Given the description of an element on the screen output the (x, y) to click on. 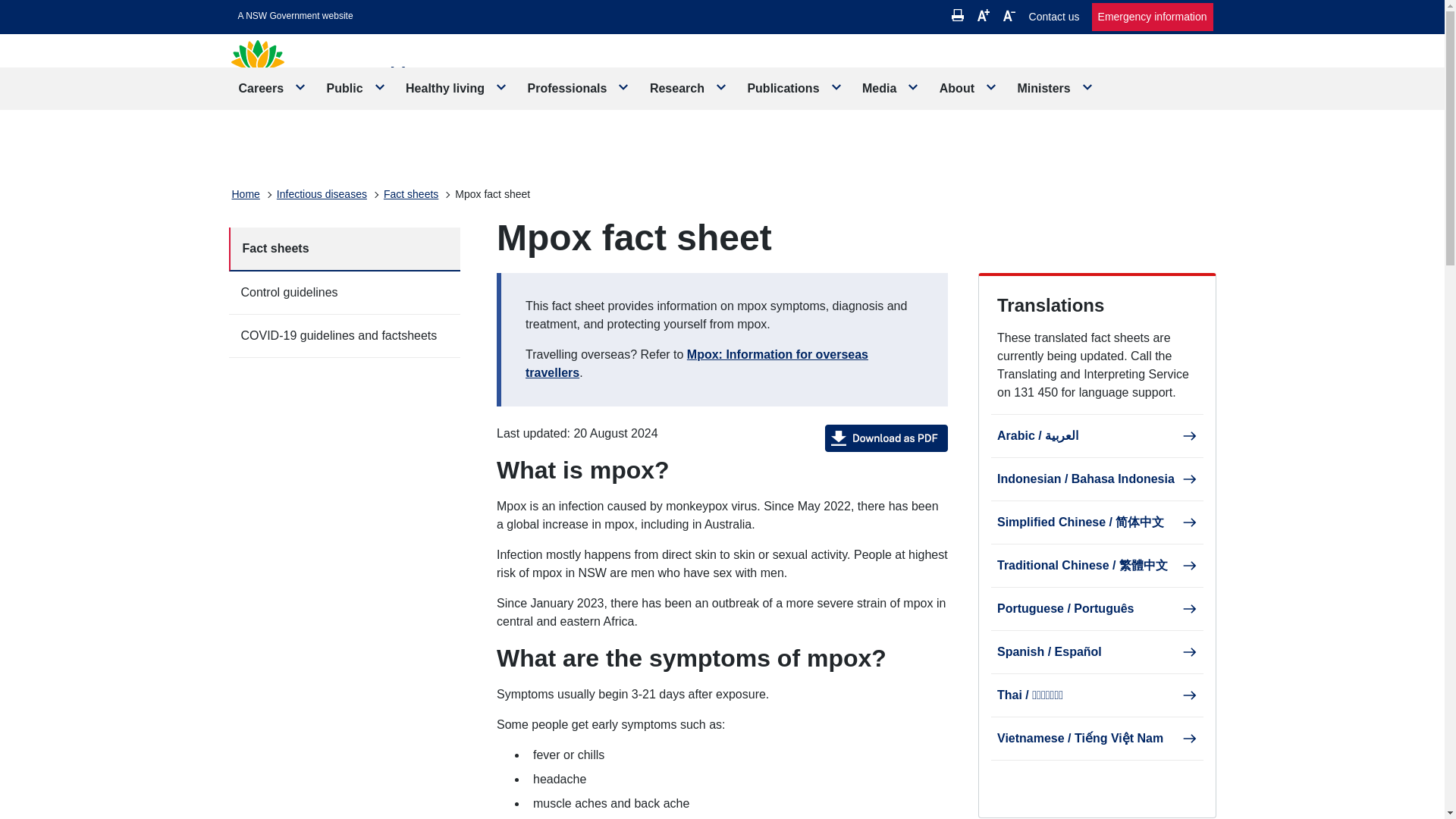
Home (245, 193)
Emergency information (1152, 17)
Decrease Font Size (1008, 15)
Print Page (957, 15)
Increase Font Size (983, 15)
Careers (272, 88)
Skip to content (296, 15)
Public (356, 88)
Go to homepage (347, 79)
Contact us (1054, 17)
